Given the description of an element on the screen output the (x, y) to click on. 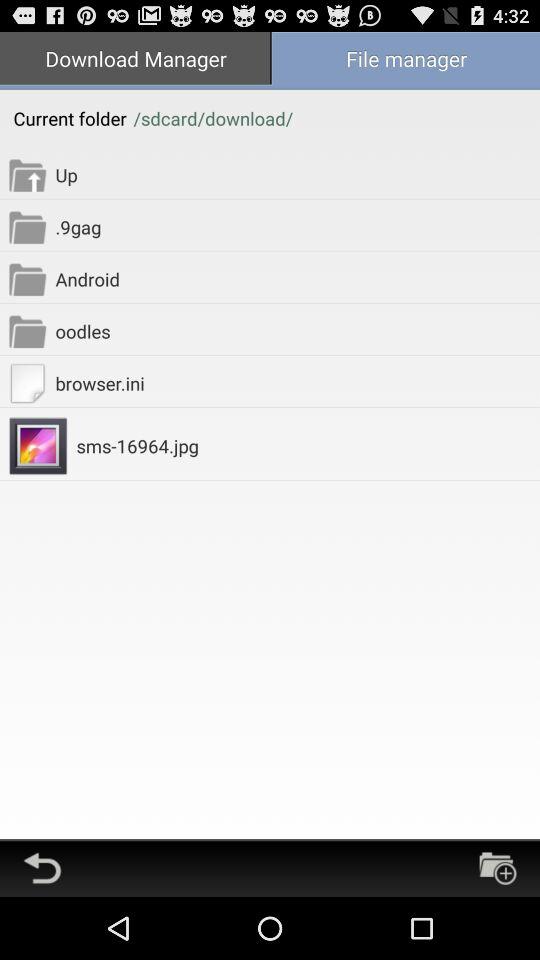
add file (498, 868)
